Given the description of an element on the screen output the (x, y) to click on. 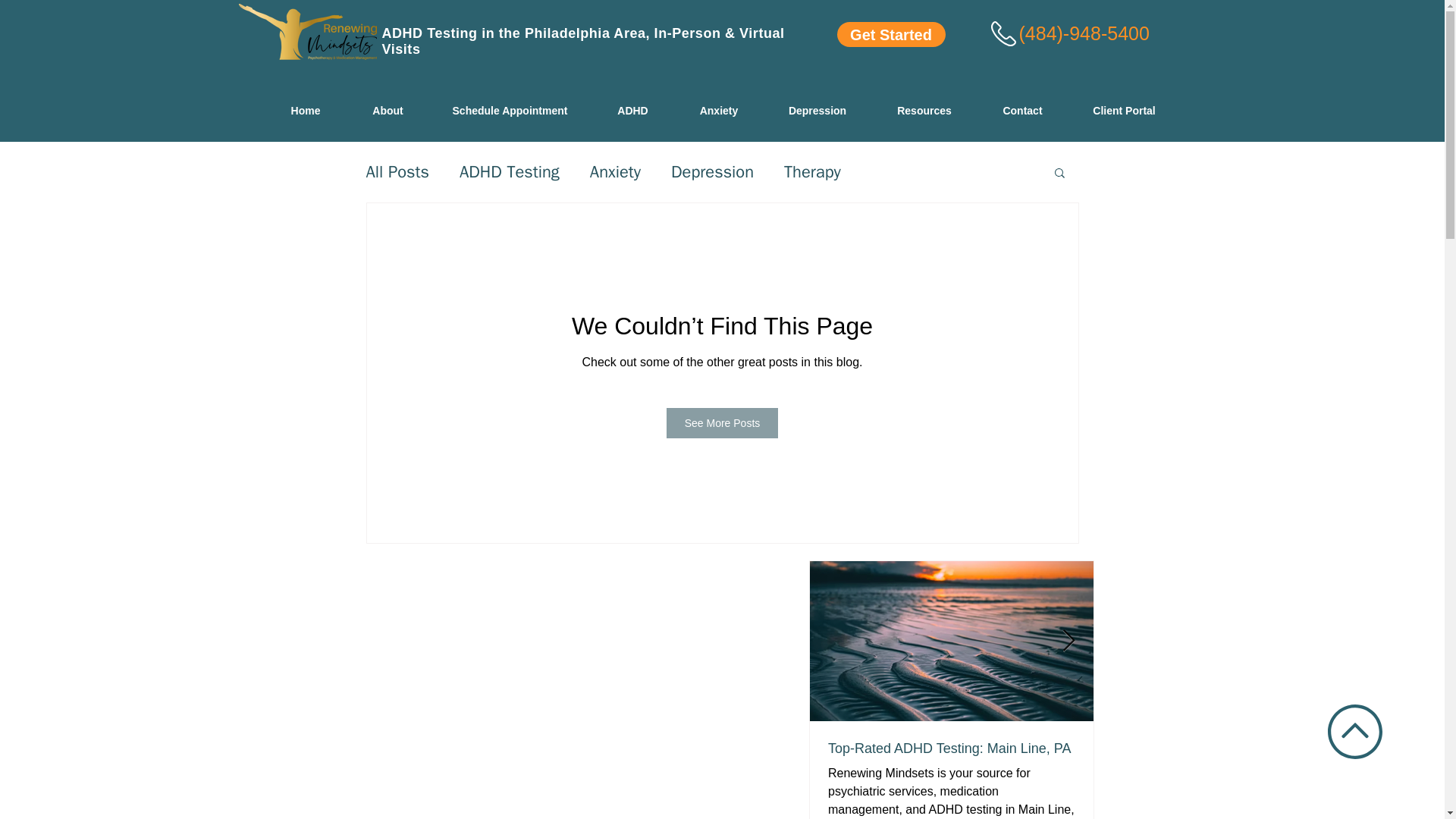
Schedule Appointment (510, 110)
Top-Rated ADHD Testing: Main Line, PA (951, 748)
Depression (712, 171)
Anxiety (718, 110)
ADHD Testing (509, 171)
Anxiety (614, 171)
Therapy (812, 171)
All Posts (397, 171)
Client Portal (1123, 110)
See More Posts (722, 422)
Depression (816, 110)
Home (304, 110)
Contact (1021, 110)
